Given the description of an element on the screen output the (x, y) to click on. 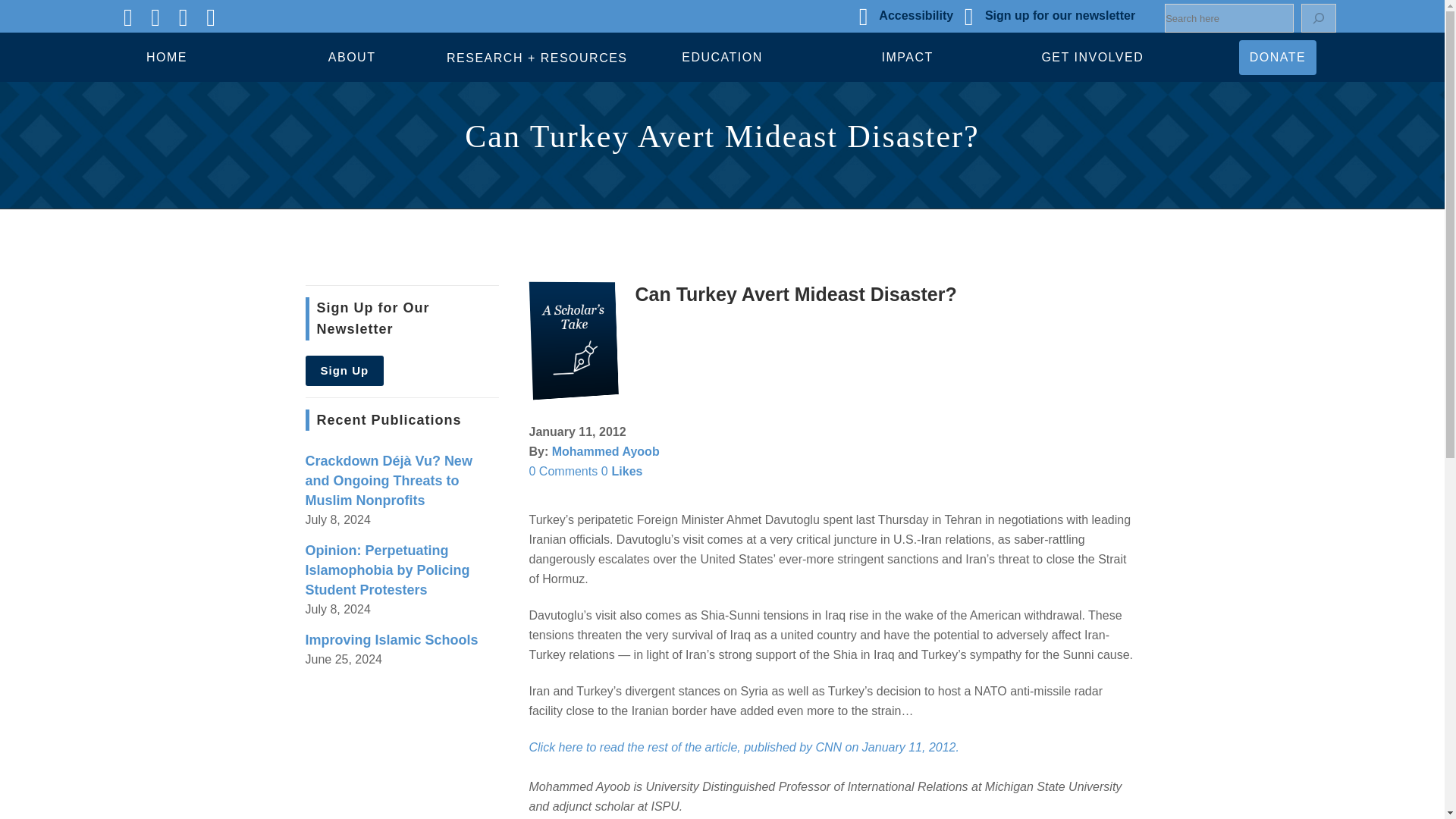
ABOUT (352, 56)
Like this (622, 471)
Accessibility (916, 15)
Posts by Mohammed Ayoob (605, 451)
